Given the description of an element on the screen output the (x, y) to click on. 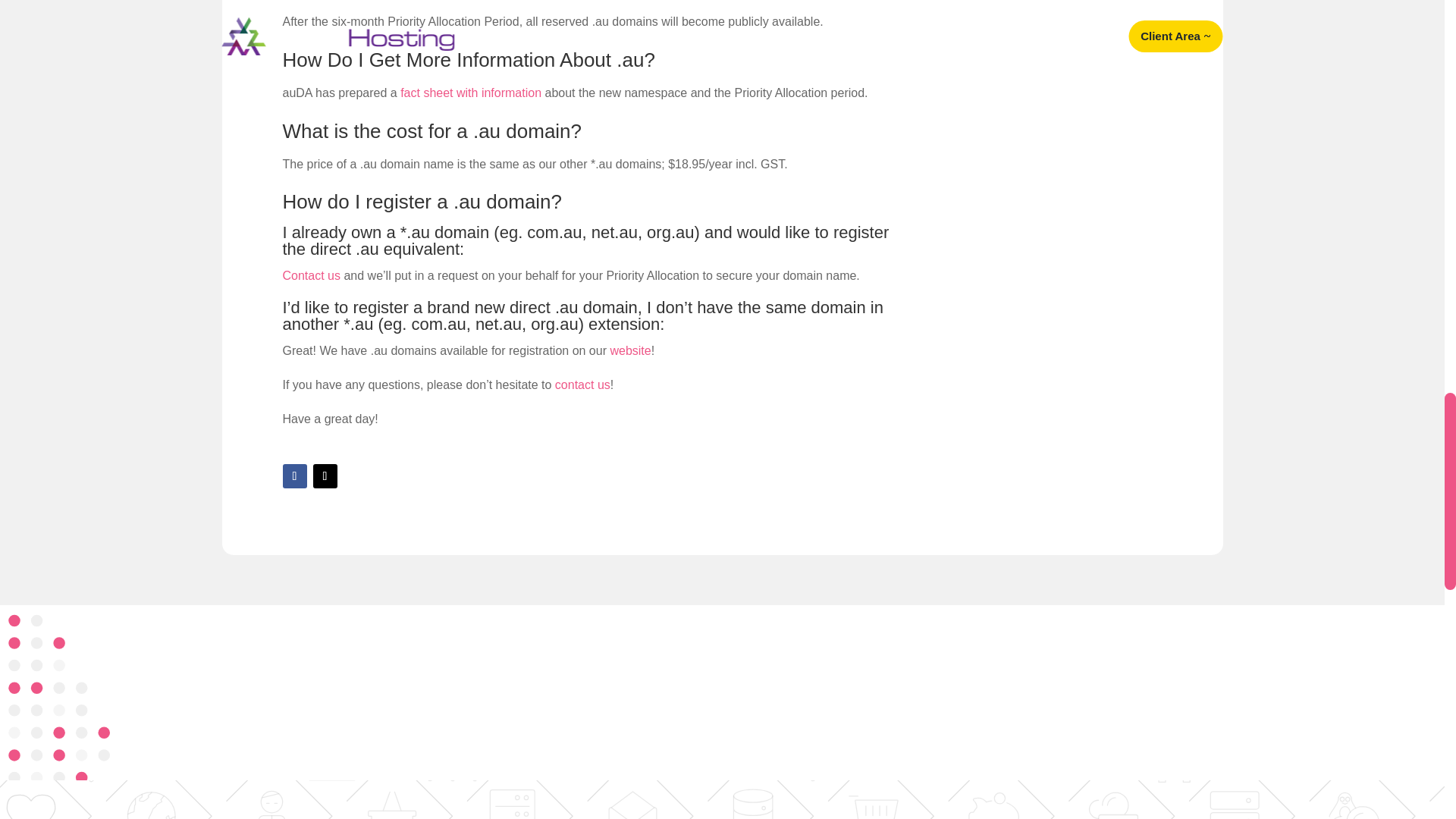
fact sheet with information (470, 92)
Follow on X (324, 476)
Contact us (310, 275)
Follow on Facebook (293, 476)
contact us (582, 384)
website (630, 350)
